Given the description of an element on the screen output the (x, y) to click on. 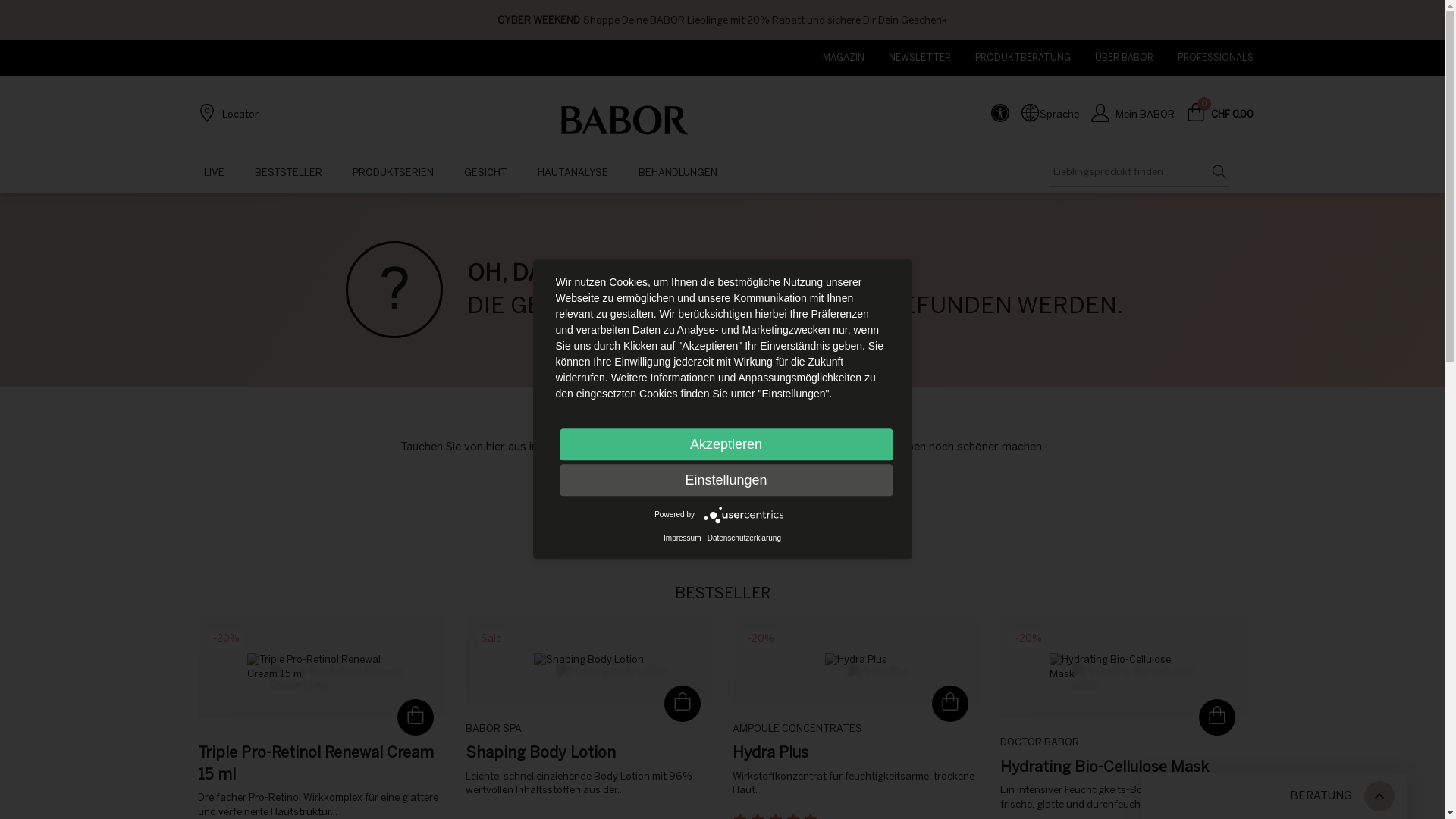
Akzeptieren Element type: text (726, 444)
IN DEN WARENKORB Element type: text (949, 702)
IN DEN WARENKORB Element type: text (1216, 717)
Lieblingsprodukt finden Element type: hover (1131, 172)
IN DEN WARENKORB Element type: text (414, 717)
Einstellungen Element type: text (726, 479)
Impressum Element type: text (681, 538)
0 Element type: text (1195, 114)
IN DEN WARENKORB Element type: text (682, 702)
